Given the description of an element on the screen output the (x, y) to click on. 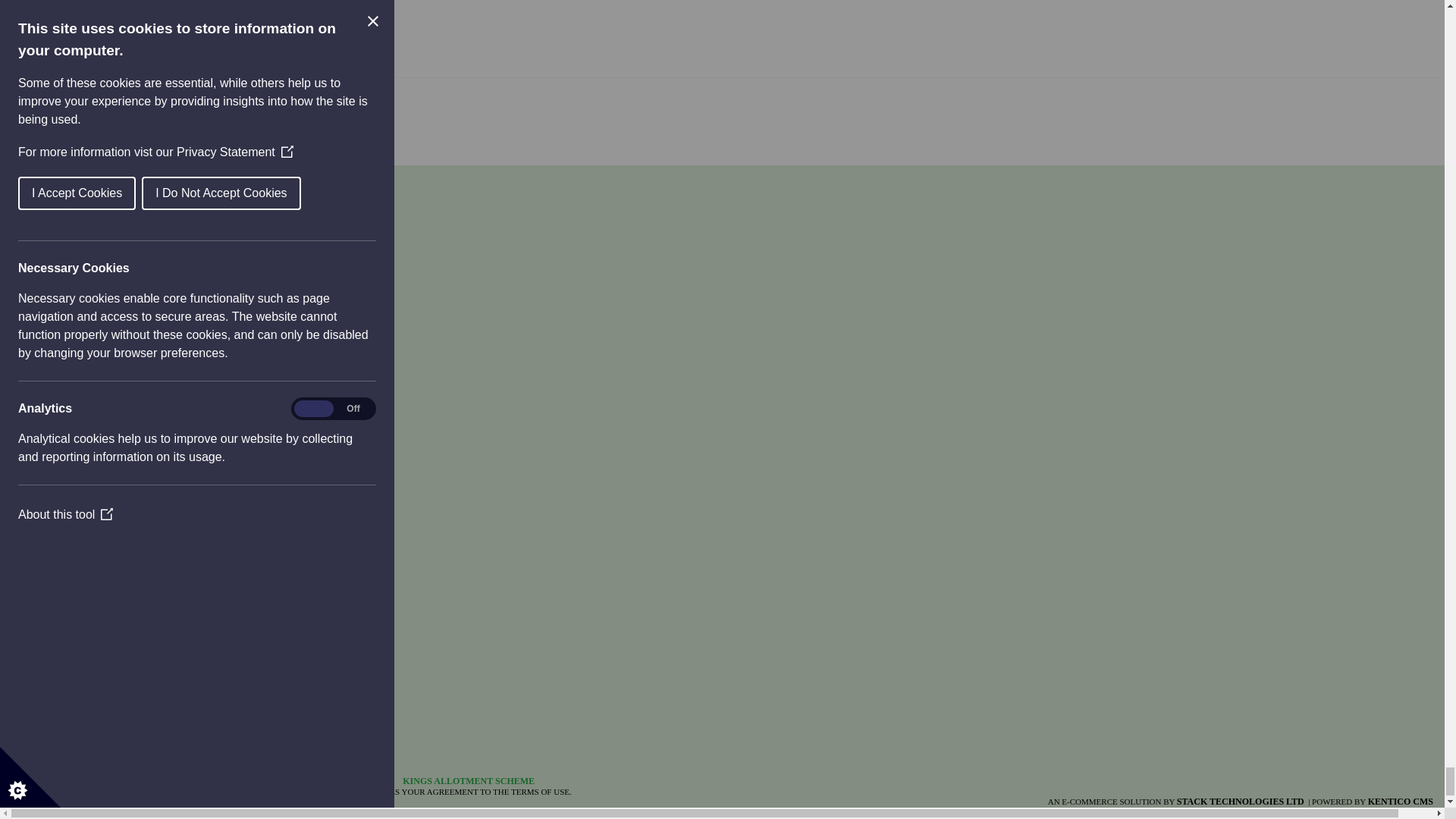
trustpilot.png (56, 742)
